Given the description of an element on the screen output the (x, y) to click on. 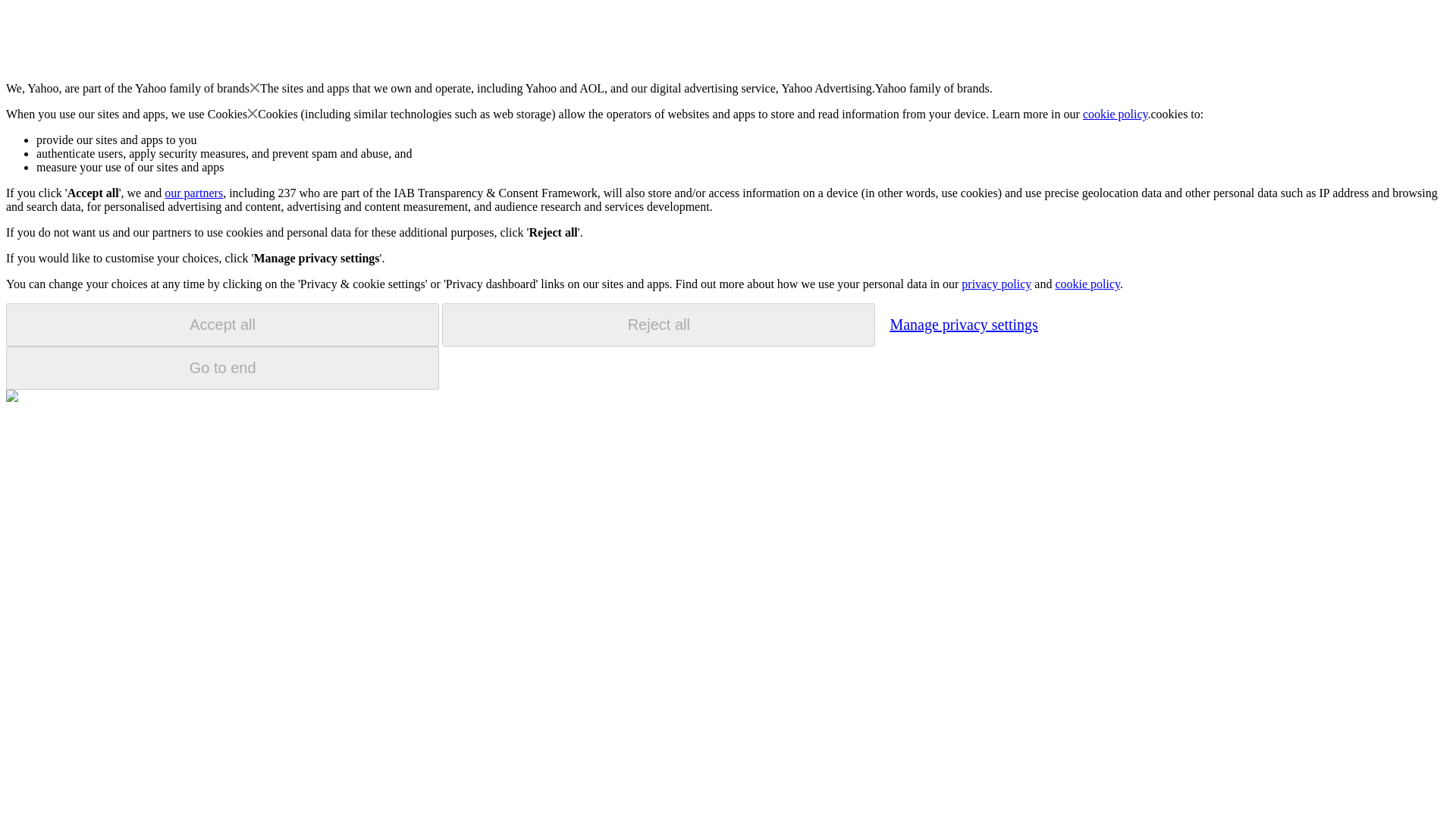
our partners (193, 192)
Manage privacy settings (963, 323)
Go to end (222, 367)
cookie policy (1115, 113)
Reject all (658, 324)
Accept all (222, 324)
privacy policy (995, 283)
cookie policy (1086, 283)
